Given the description of an element on the screen output the (x, y) to click on. 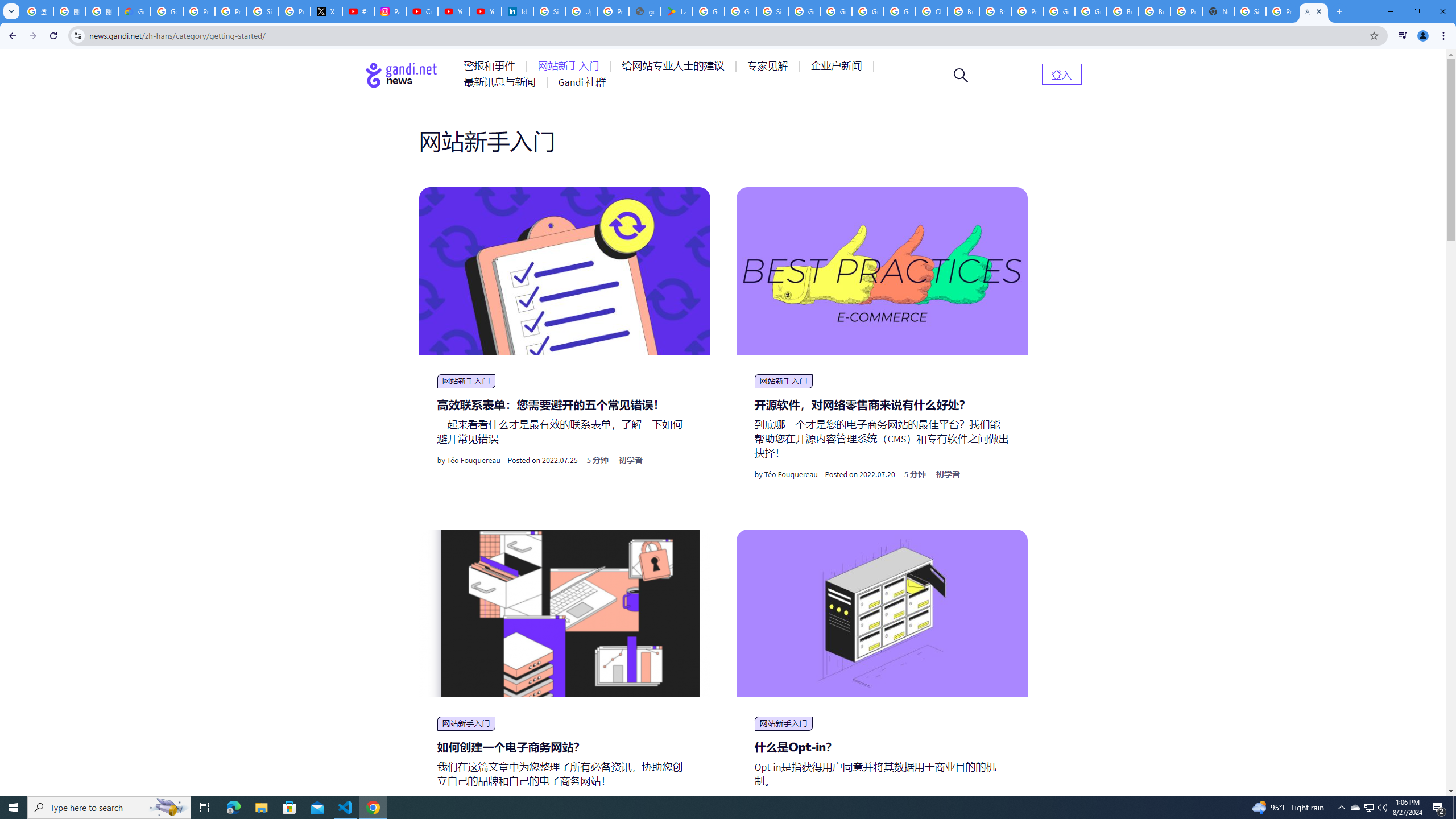
google_privacy_policy_en.pdf (644, 11)
AutomationID: menu-item-77766 (502, 82)
Open search form (960, 74)
